Given the description of an element on the screen output the (x, y) to click on. 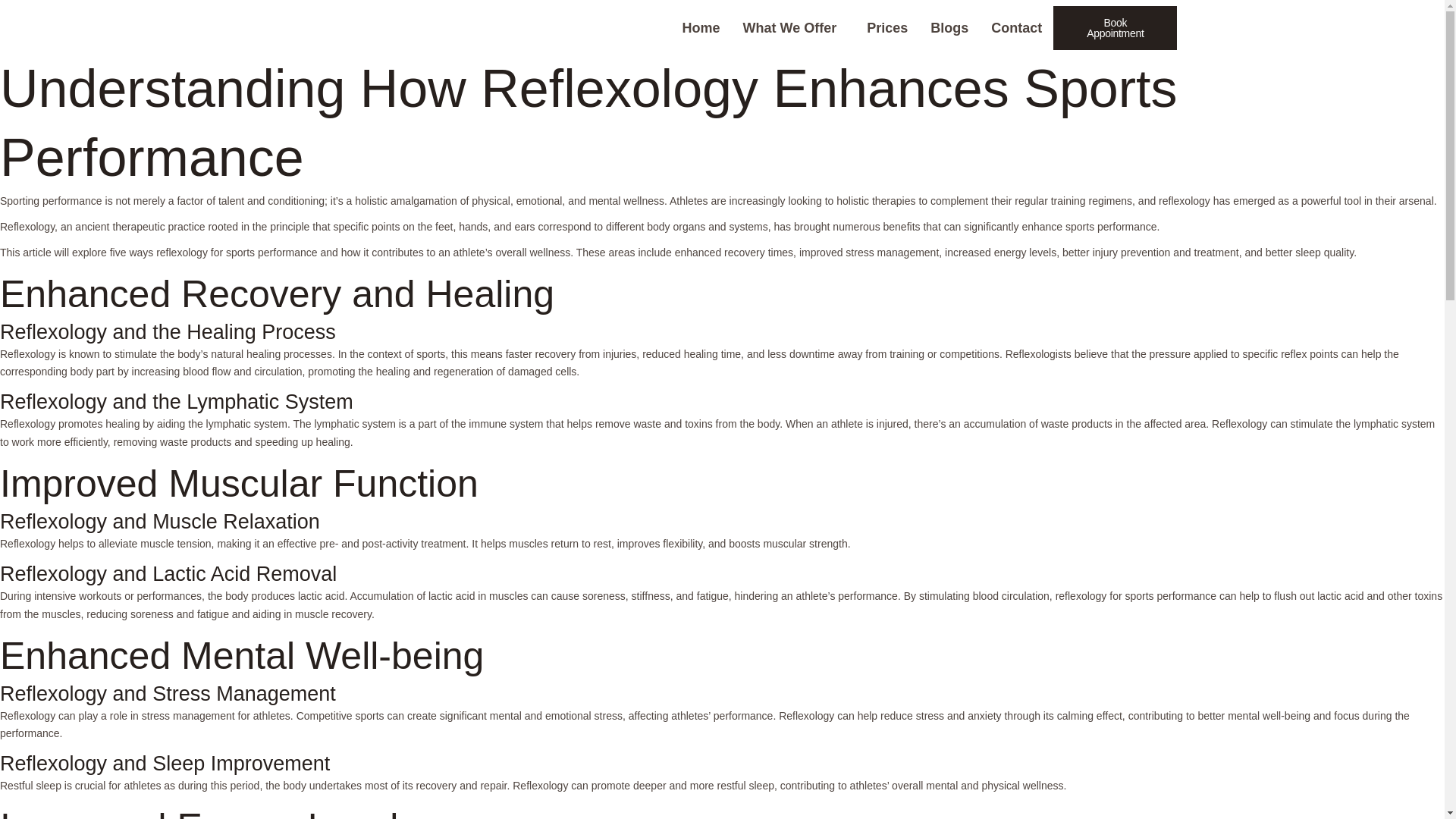
Book Appointment (1114, 27)
What We Offer (794, 27)
Blogs (750, 27)
Home (948, 27)
Prices (701, 27)
Contact (887, 27)
Book Appointment (1015, 27)
